Given the description of an element on the screen output the (x, y) to click on. 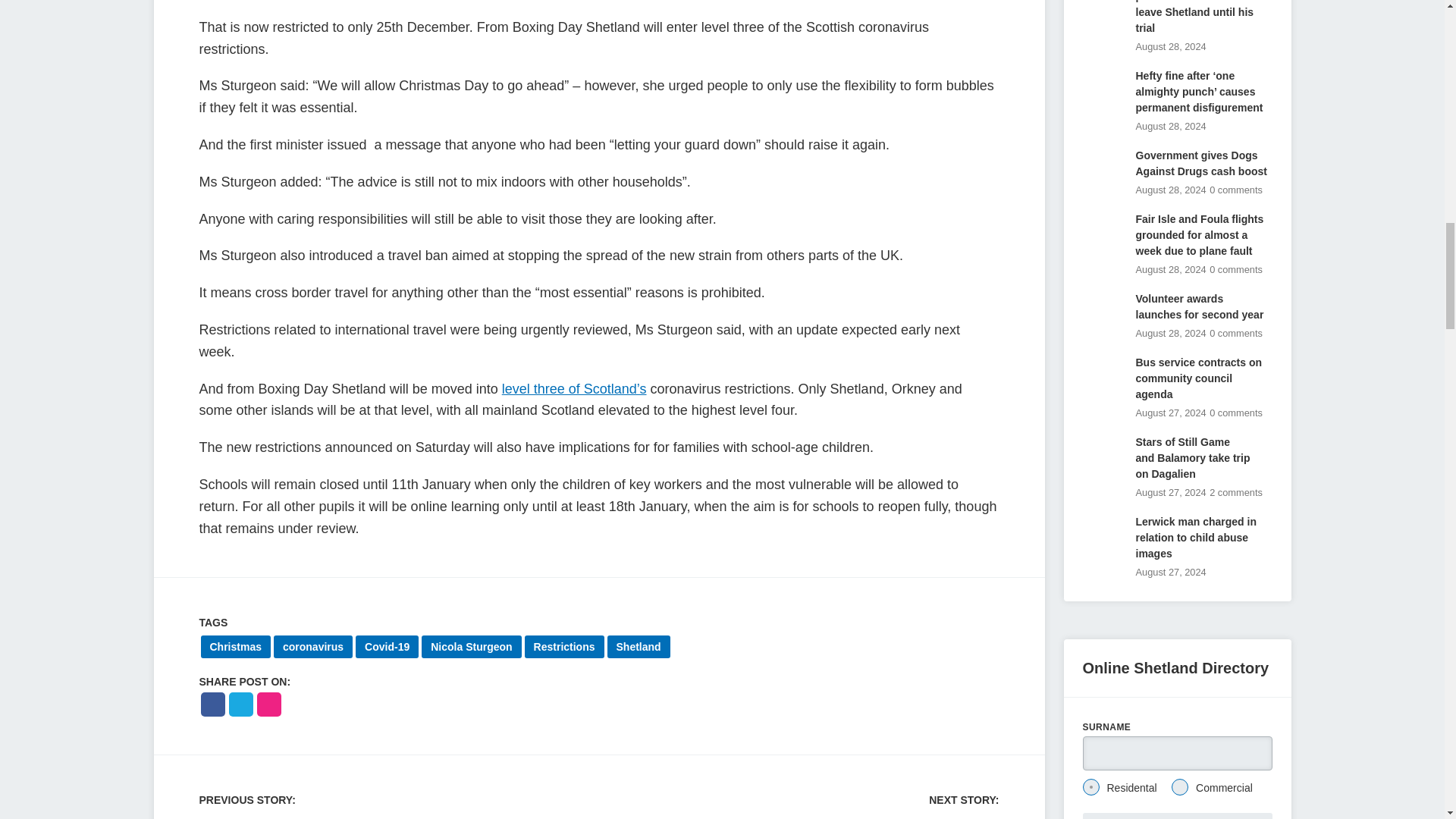
coronavirus (312, 646)
residential (1091, 786)
commercial (1180, 786)
Covid-19 (387, 646)
Shetland (638, 646)
Nicola Sturgeon (471, 646)
Restrictions (564, 646)
Christmas (234, 646)
